Given the description of an element on the screen output the (x, y) to click on. 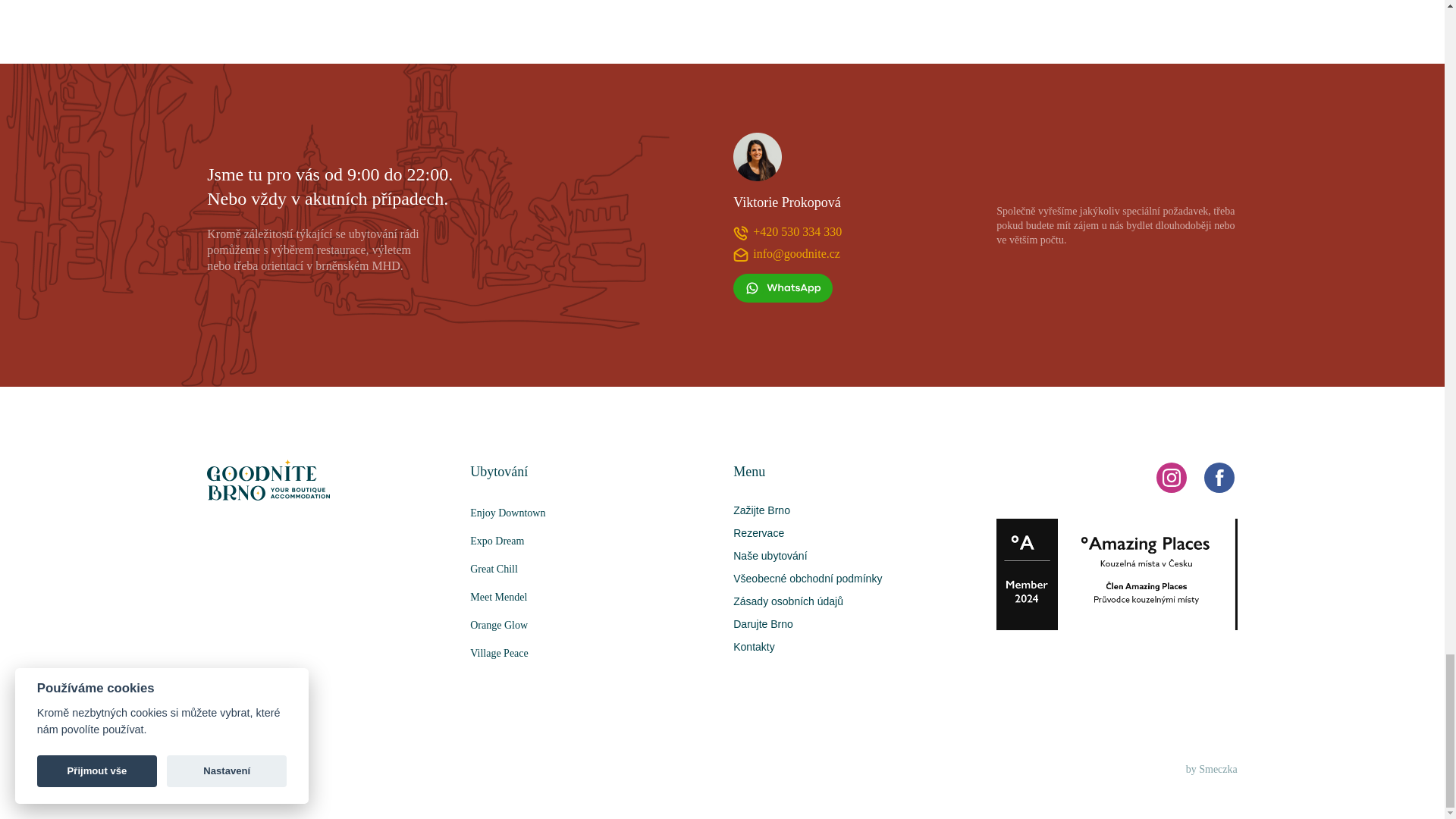
Darujte Brno (763, 623)
Meet Mendel (590, 596)
Kontakty (753, 646)
Orange Glow (590, 624)
Darujte Brno (763, 623)
Expo Dream (590, 541)
Enjoy Downtown (590, 512)
Kontakty (753, 646)
Village Peace (590, 653)
Rezervace (758, 532)
Great Chill (590, 569)
Rezervace (758, 532)
by Smeczka (1211, 768)
